Given the description of an element on the screen output the (x, y) to click on. 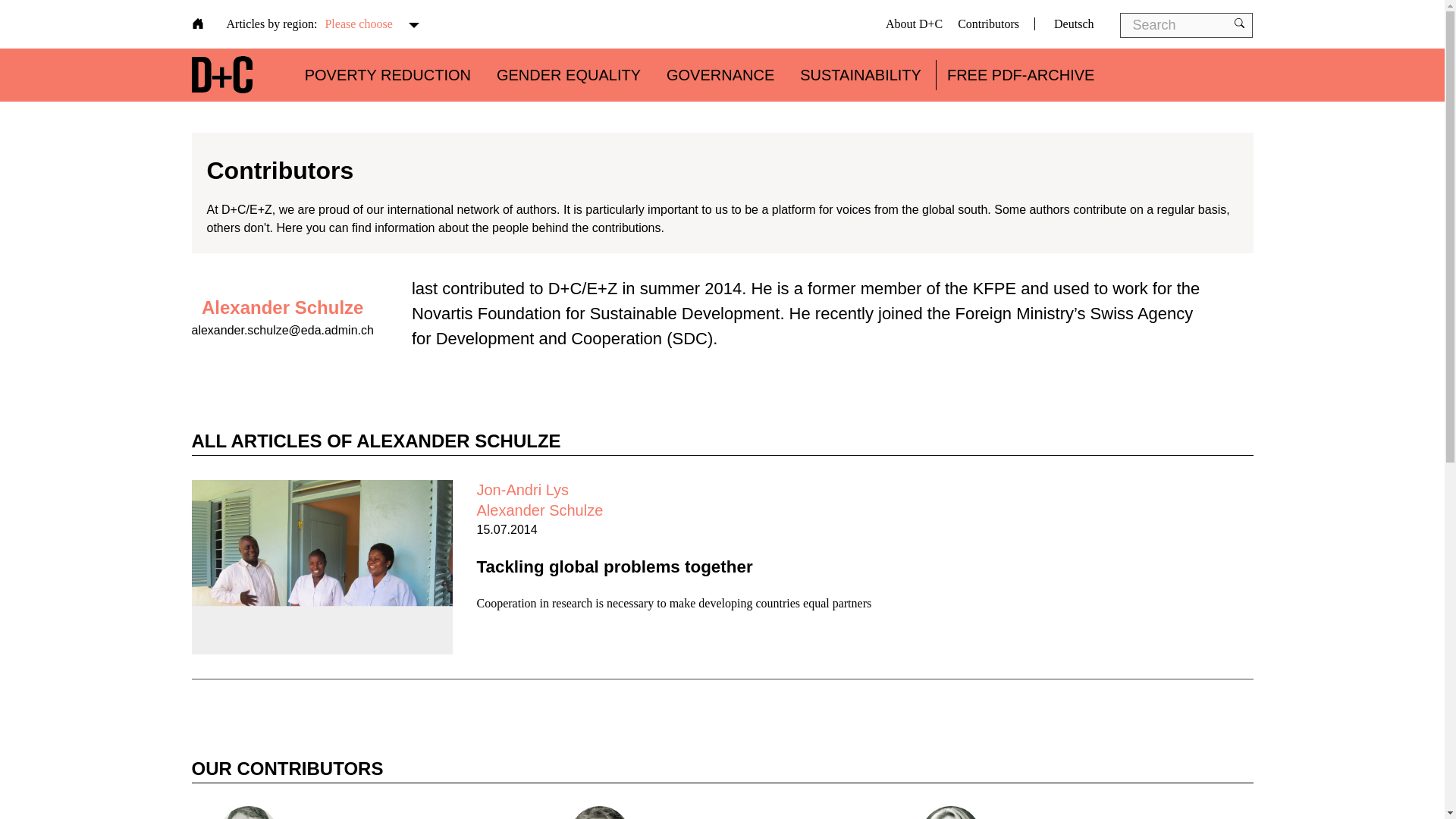
POVERTY REDUCTION (387, 74)
FREE PDF-ARCHIVE (1020, 74)
Contributors (988, 23)
Deutsch (1063, 23)
Jon-Andri Lys (522, 489)
